Given the description of an element on the screen output the (x, y) to click on. 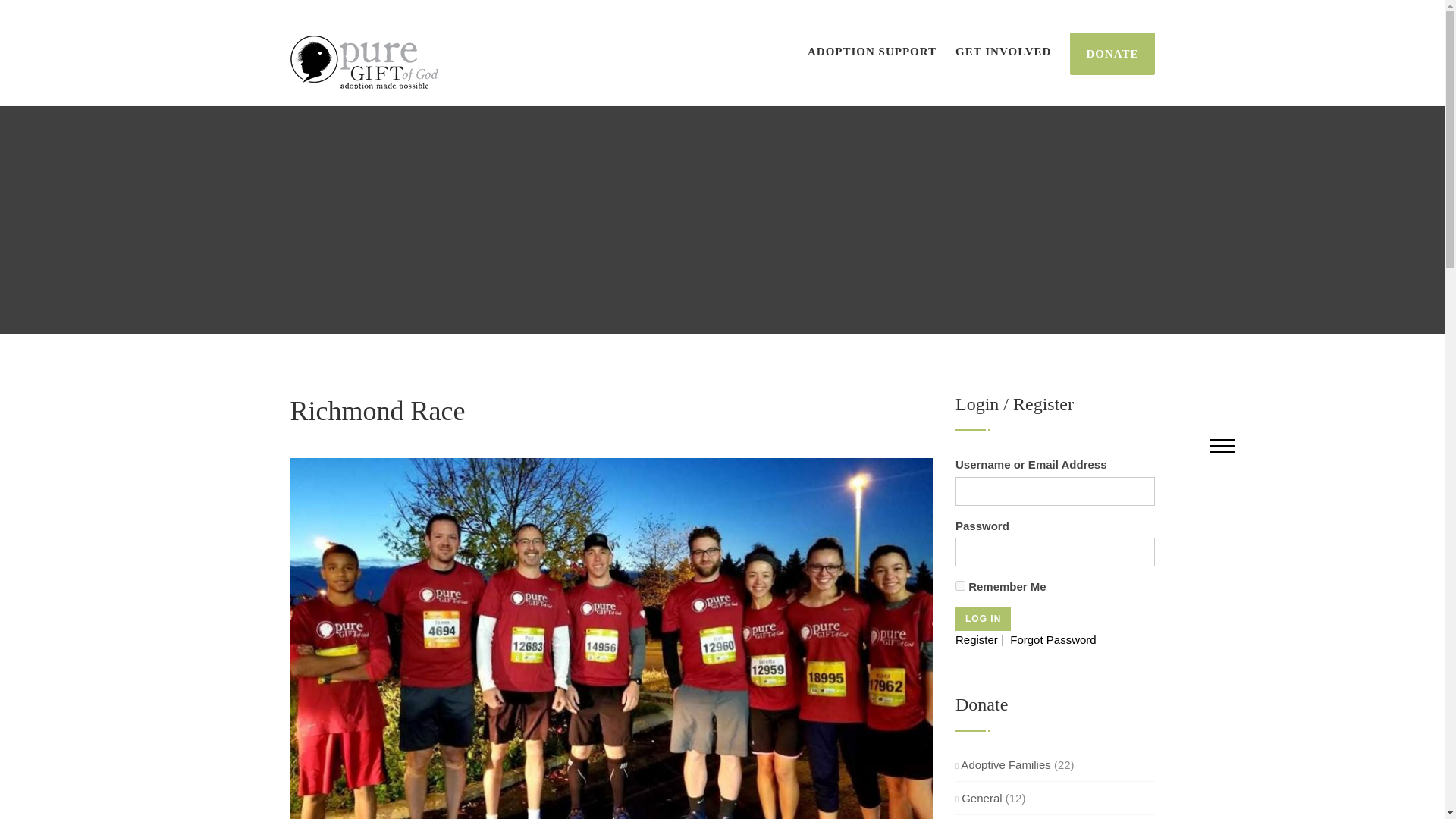
GET INVOLVED (1003, 51)
forever (960, 585)
DONATE (1112, 53)
General (979, 797)
Log In (982, 618)
Forgot Password (1053, 639)
Register (976, 639)
Log In (982, 618)
ADOPTION SUPPORT (872, 51)
Adoptive Families (1003, 764)
